Given the description of an element on the screen output the (x, y) to click on. 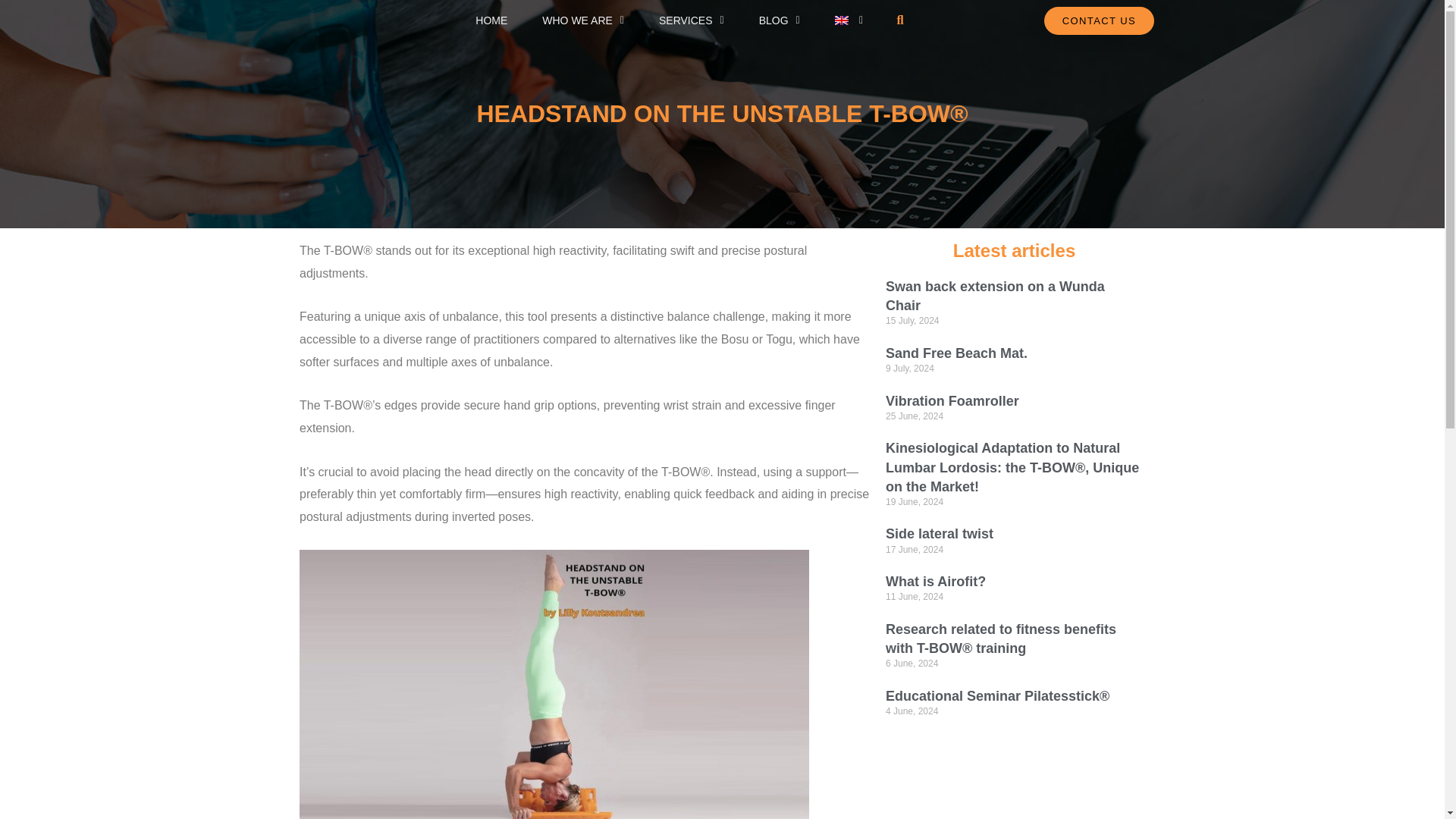
HOME (491, 20)
BLOG (779, 20)
SERVICES (691, 20)
WHO WE ARE (583, 20)
